Given the description of an element on the screen output the (x, y) to click on. 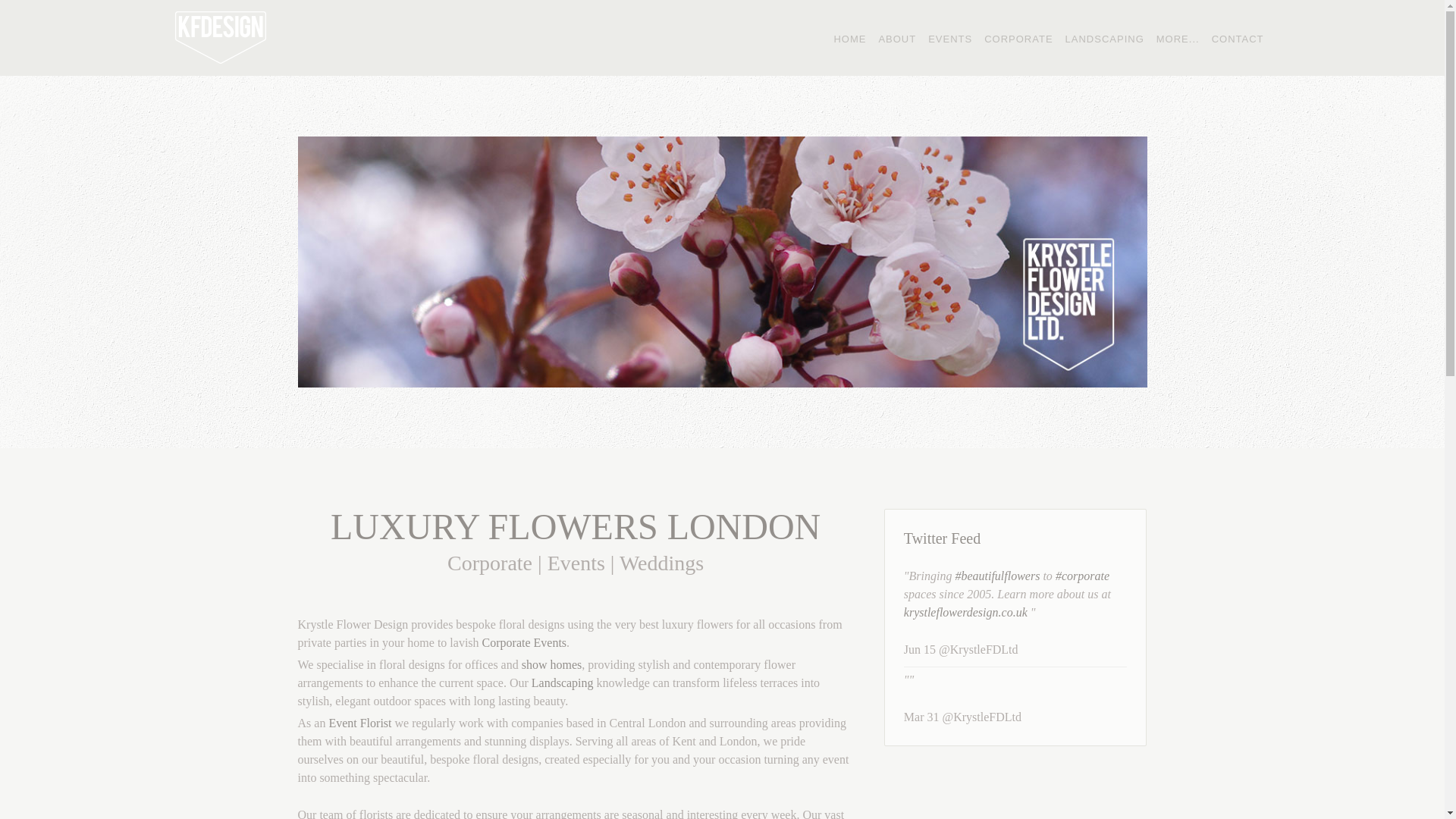
Event Florist (360, 722)
LANDSCAPING (1104, 38)
show homes (551, 664)
Corporate Events (524, 642)
krystleflowerdesign.co.uk (965, 612)
CORPORATE (1018, 38)
Link to Landscaping Page (562, 682)
Link to Homes Page (551, 664)
Link to Event Florist Page (360, 722)
Krystle Flower Design Logo (219, 37)
